Given the description of an element on the screen output the (x, y) to click on. 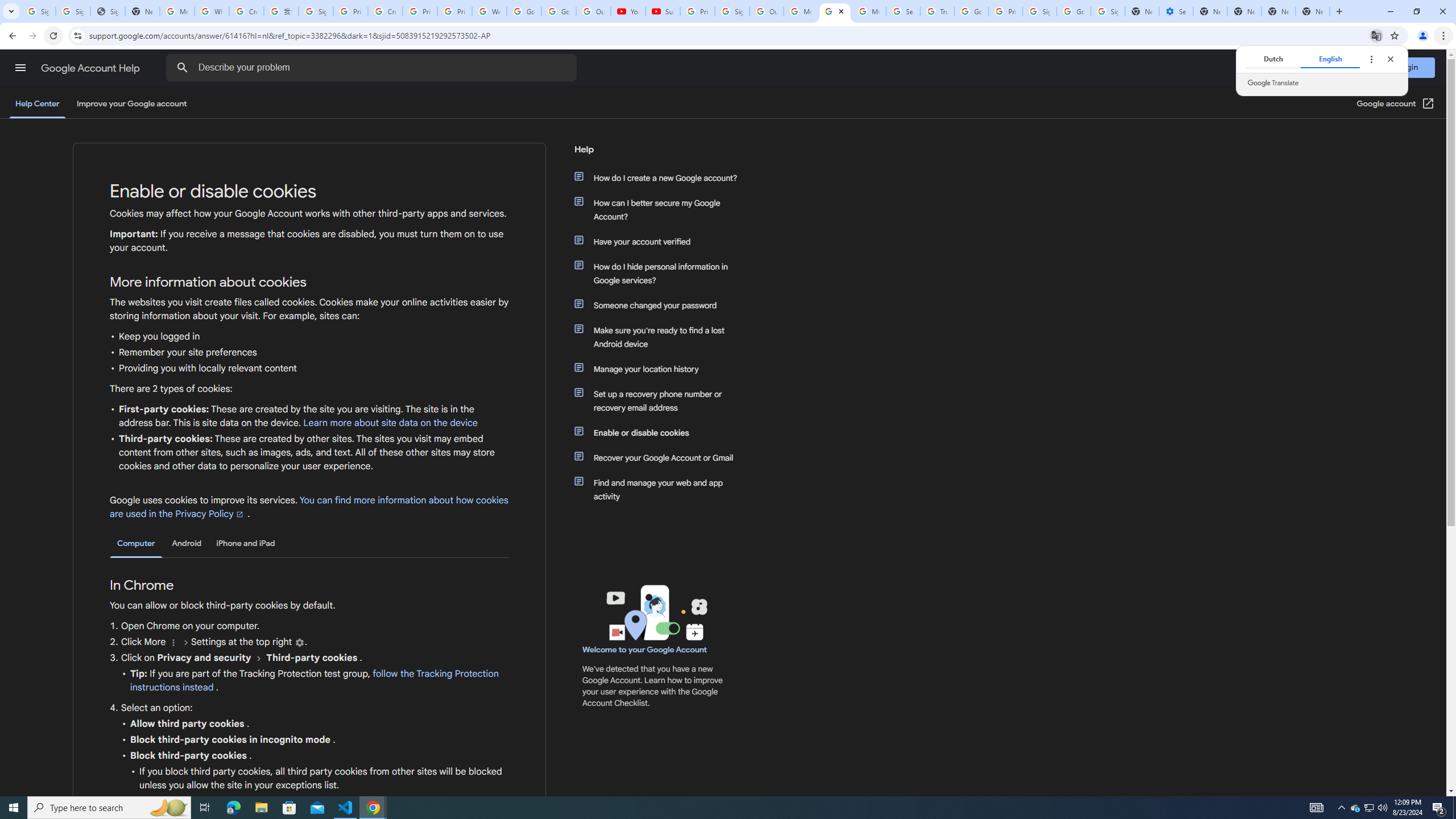
Learning Center home page image (655, 612)
English (1329, 58)
and then (258, 657)
Turn cookies on or off - Computer - Google Account Help (834, 11)
Make sure you're ready to find a lost Android device (661, 336)
Trusted Information and Content - Google Safety Center (937, 11)
Translate this page (1376, 35)
Sign In - USA TODAY (107, 11)
follow the Tracking Protection instructions instead (314, 680)
Manage your location history (661, 368)
Find and manage your web and app activity (661, 489)
